Given the description of an element on the screen output the (x, y) to click on. 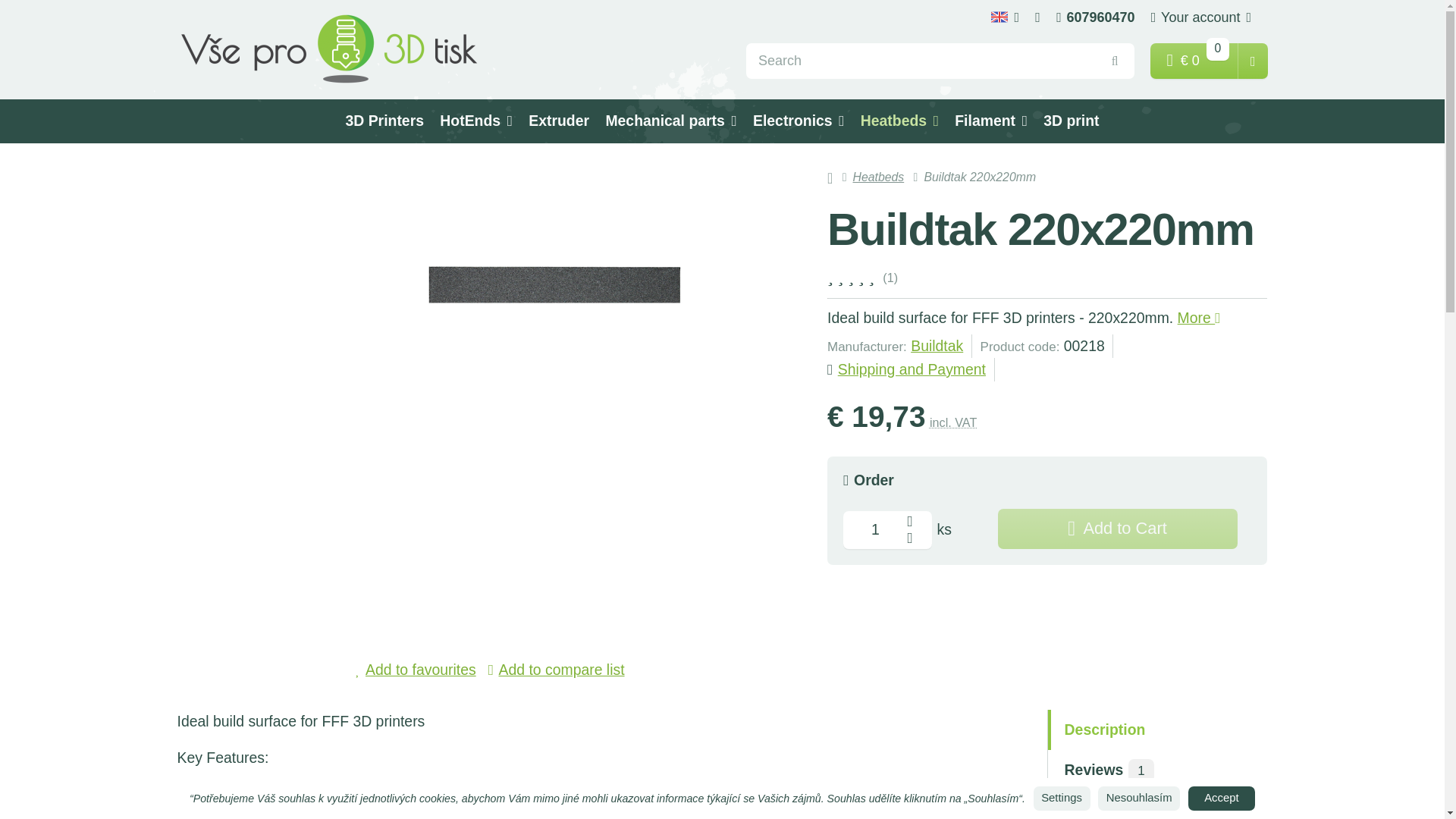
Phone (1095, 17)
1 (887, 529)
3D Printers (384, 121)
607960470 (1095, 17)
Open menu (1005, 17)
Home (328, 49)
Your account (1200, 17)
HotEnds (476, 121)
